Given the description of an element on the screen output the (x, y) to click on. 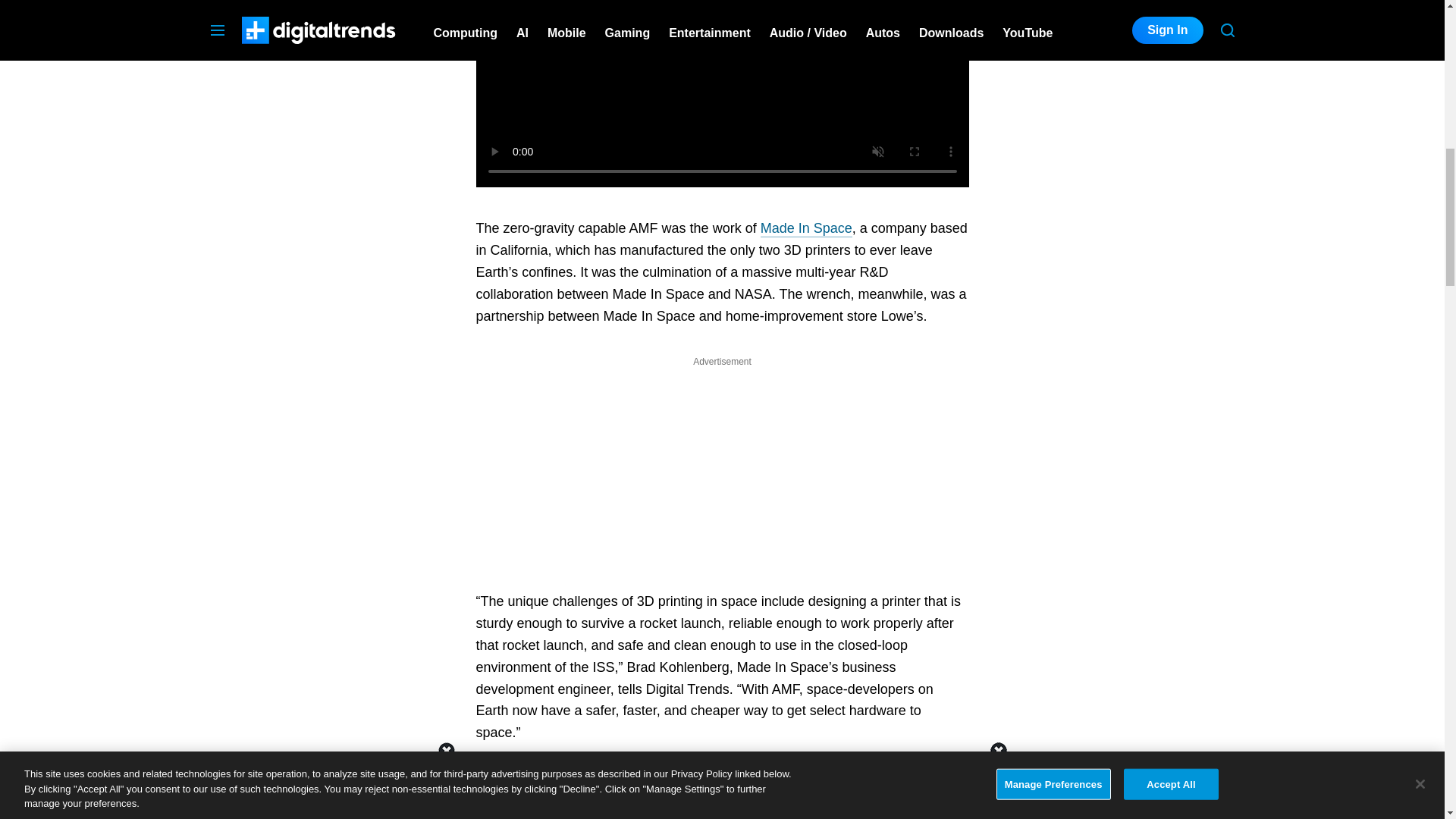
3rd party ad content (1120, 72)
